Given the description of an element on the screen output the (x, y) to click on. 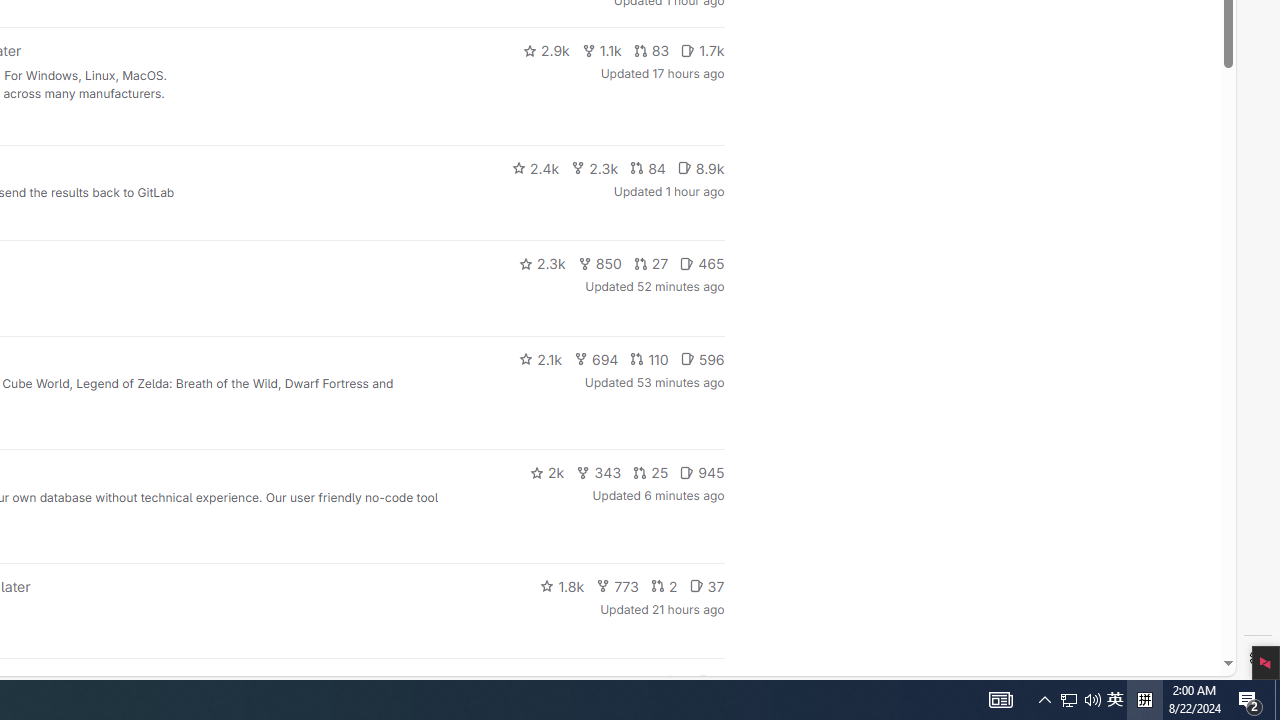
694 (596, 358)
343 (599, 472)
850 (599, 263)
2.4k (535, 167)
6 (710, 681)
83 (651, 50)
2.1k (539, 358)
945 (701, 472)
1 (673, 681)
1.8k (562, 585)
37 (706, 585)
25 (651, 472)
596 (701, 358)
143 (629, 681)
